Given the description of an element on the screen output the (x, y) to click on. 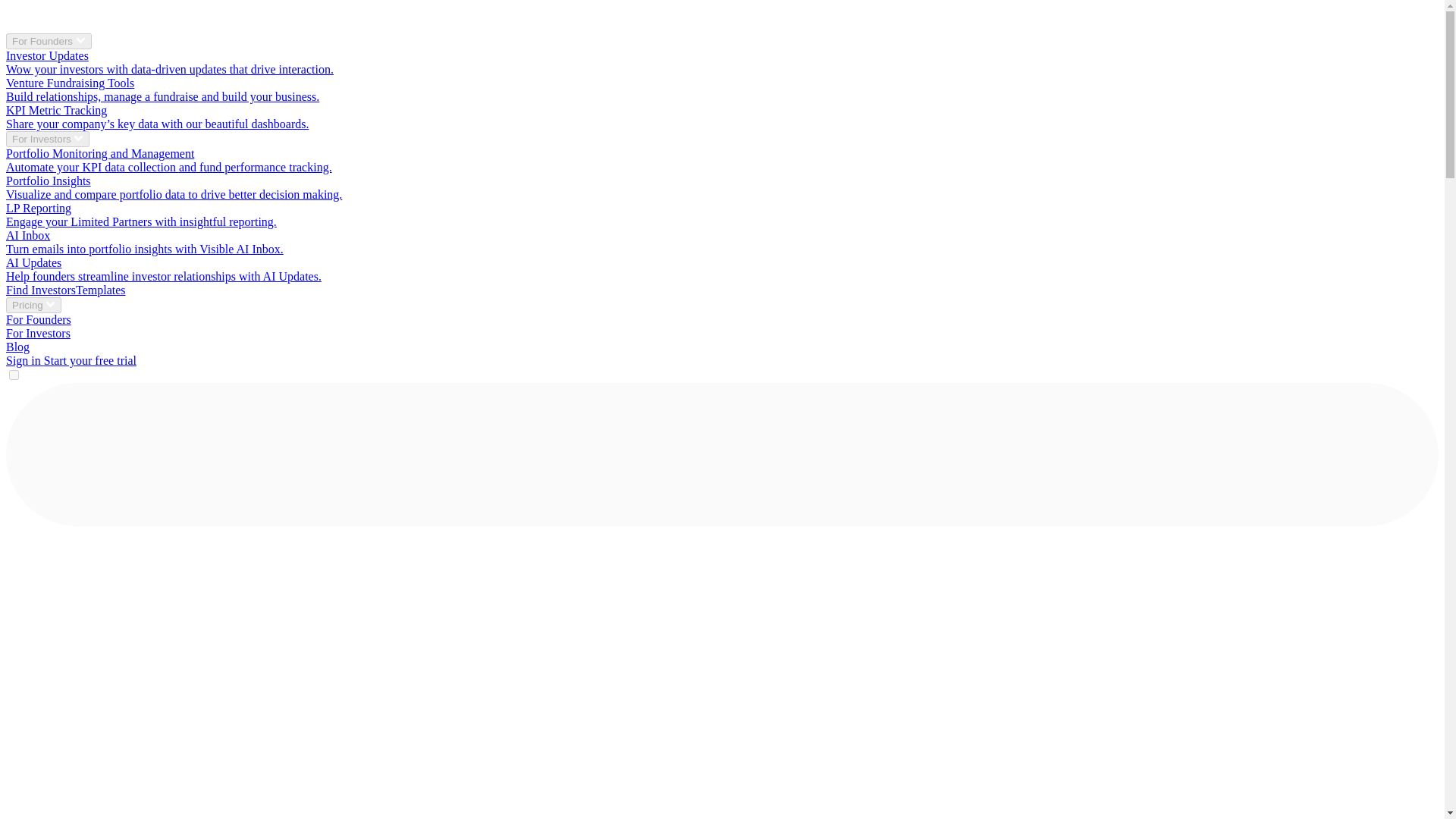
Sign in (24, 359)
Blog (17, 346)
Start your free trial (89, 359)
Find Investors (40, 289)
For Founders (48, 41)
Templates (100, 289)
Pricing (33, 304)
on (13, 375)
For Investors (46, 139)
